Given the description of an element on the screen output the (x, y) to click on. 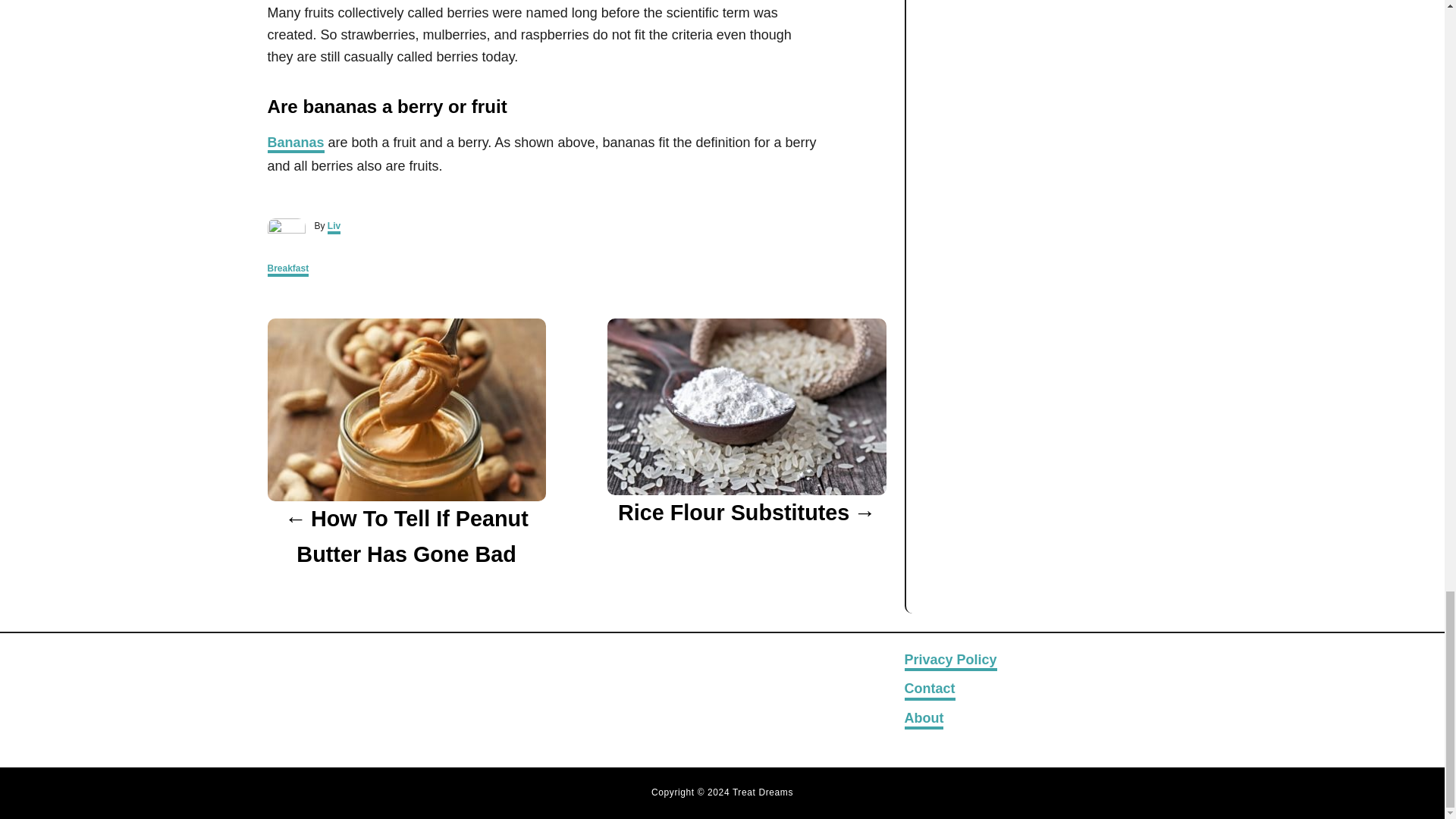
Privacy Policy (949, 660)
How To Tell If Peanut Butter Has Gone Bad (405, 536)
Liv (333, 227)
Bananas (294, 144)
Contact (929, 690)
About (923, 720)
Rice Flour Substitutes (746, 512)
Breakfast (287, 269)
